Given the description of an element on the screen output the (x, y) to click on. 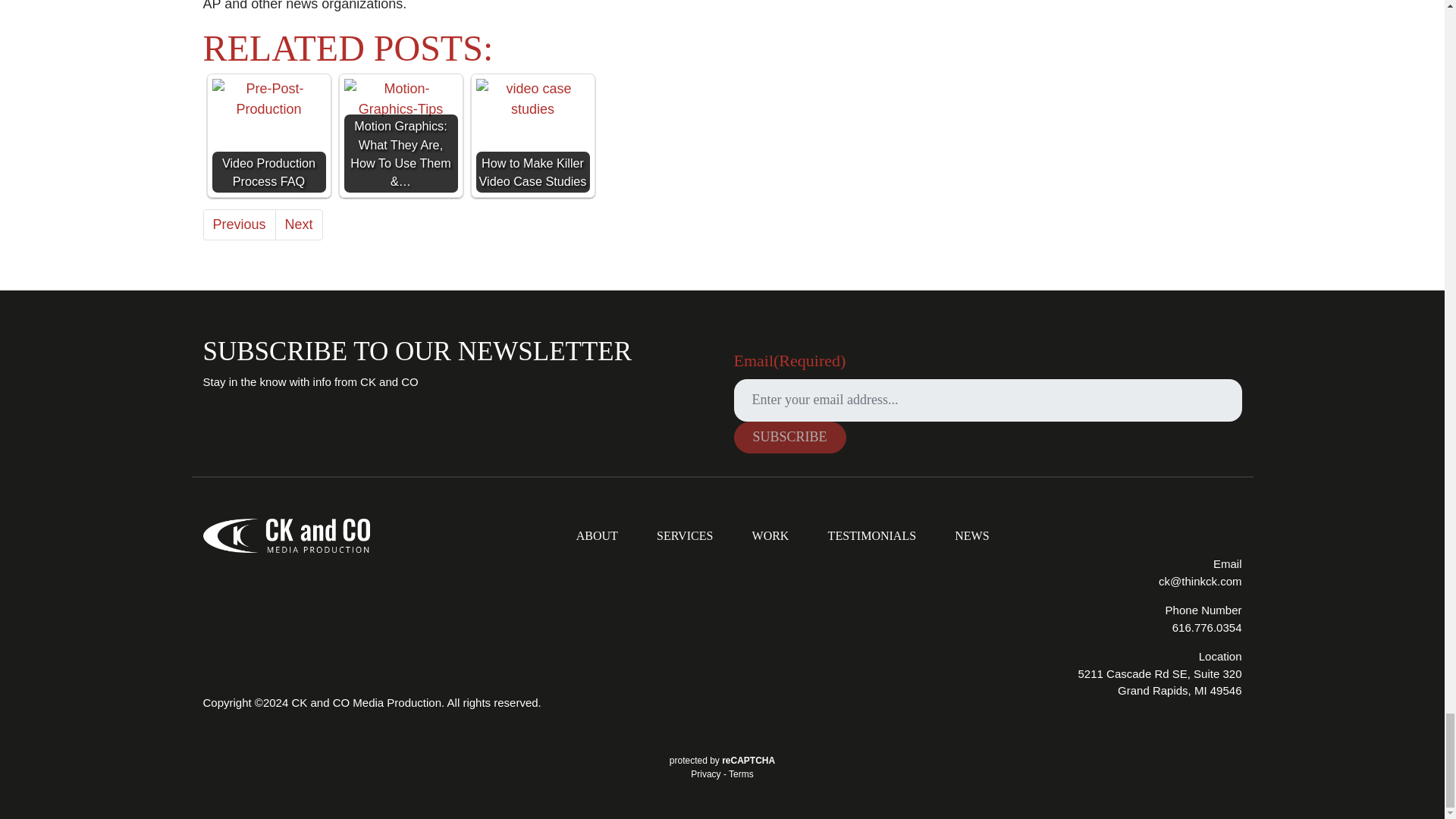
CK and CO (286, 535)
Subscribe (789, 437)
Video Production Process FAQ (269, 98)
How to Make Killer Video Case Studies (532, 98)
